Given the description of an element on the screen output the (x, y) to click on. 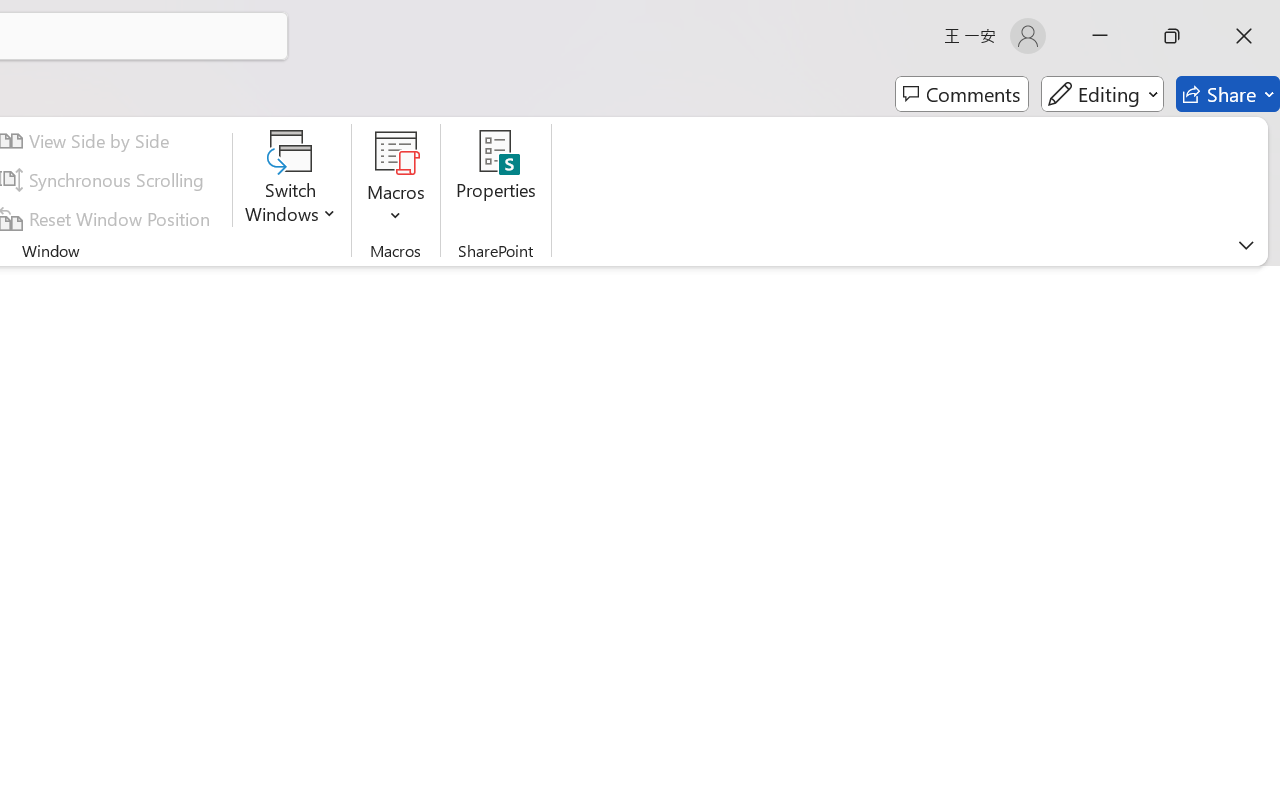
Restore Down (1172, 36)
Properties (496, 179)
Switch Windows (290, 179)
Share (1228, 94)
Minimize (1099, 36)
Ribbon Display Options (1246, 245)
Close (1244, 36)
Editing (1101, 94)
Comments (961, 94)
View Macros (395, 151)
Macros (395, 179)
More Options (395, 208)
